Given the description of an element on the screen output the (x, y) to click on. 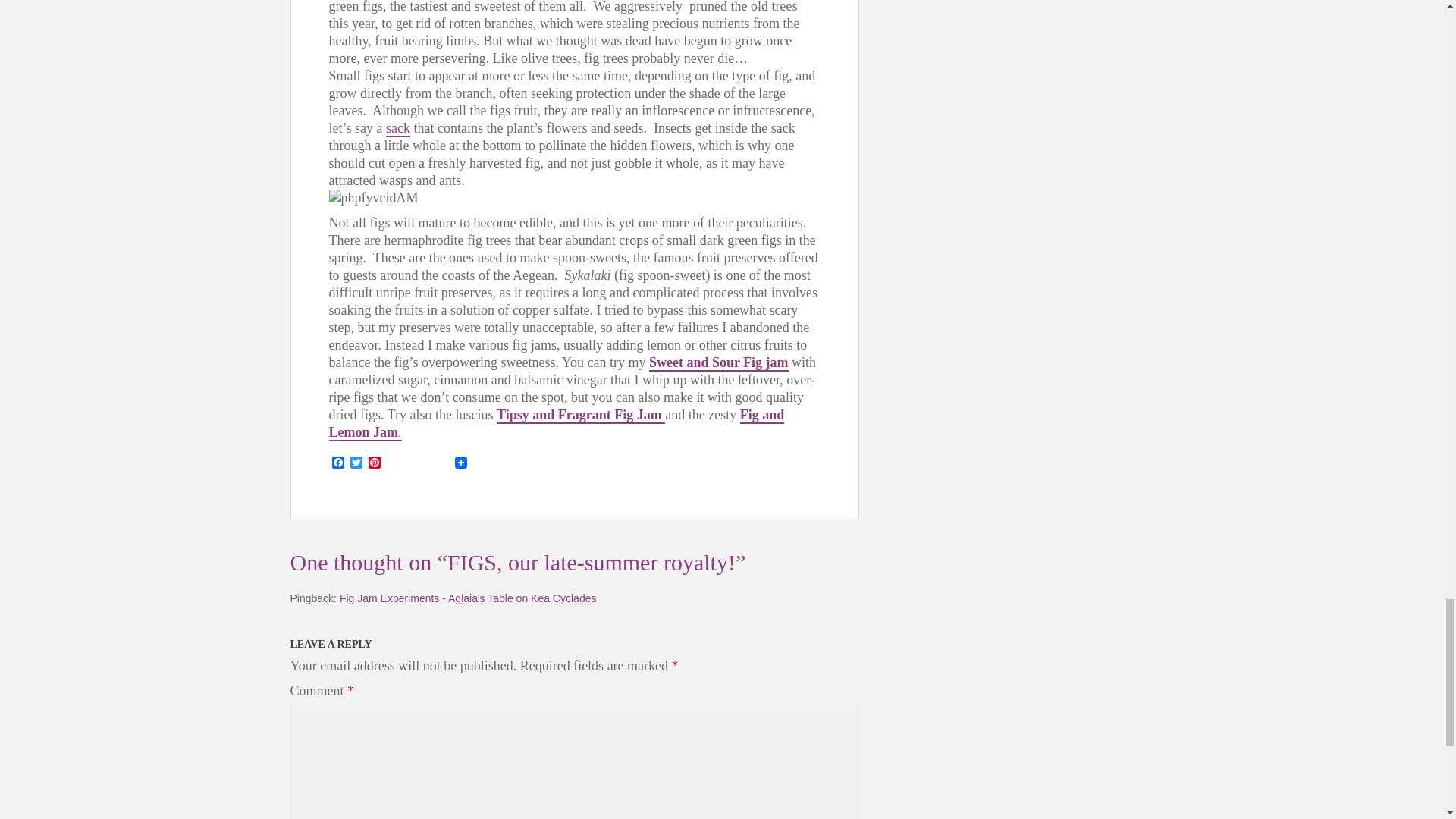
Twitter (356, 463)
Pinterest (374, 463)
Facebook (338, 463)
